Given the description of an element on the screen output the (x, y) to click on. 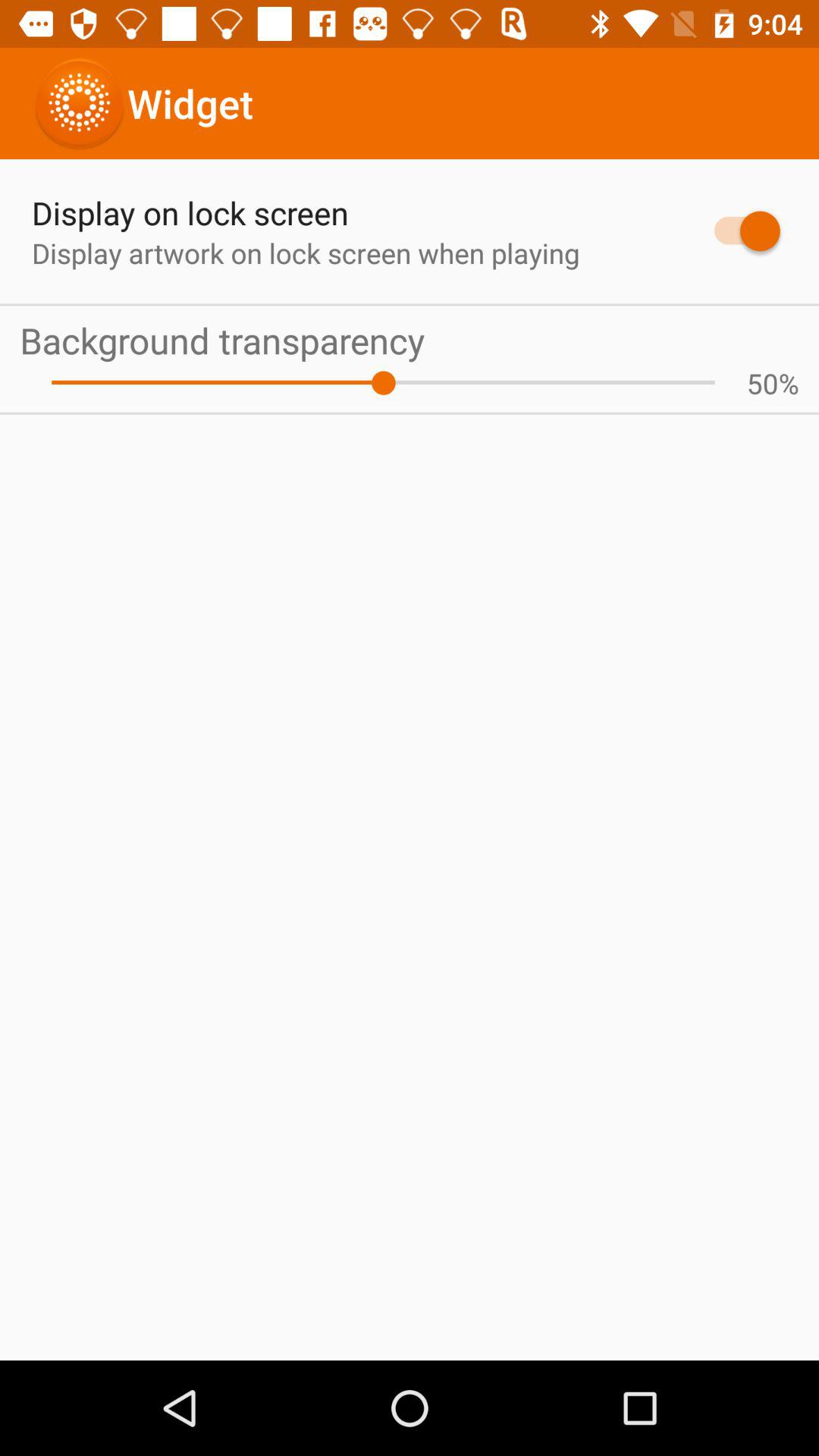
click icon to the left of the 50 (382, 382)
